Given the description of an element on the screen output the (x, y) to click on. 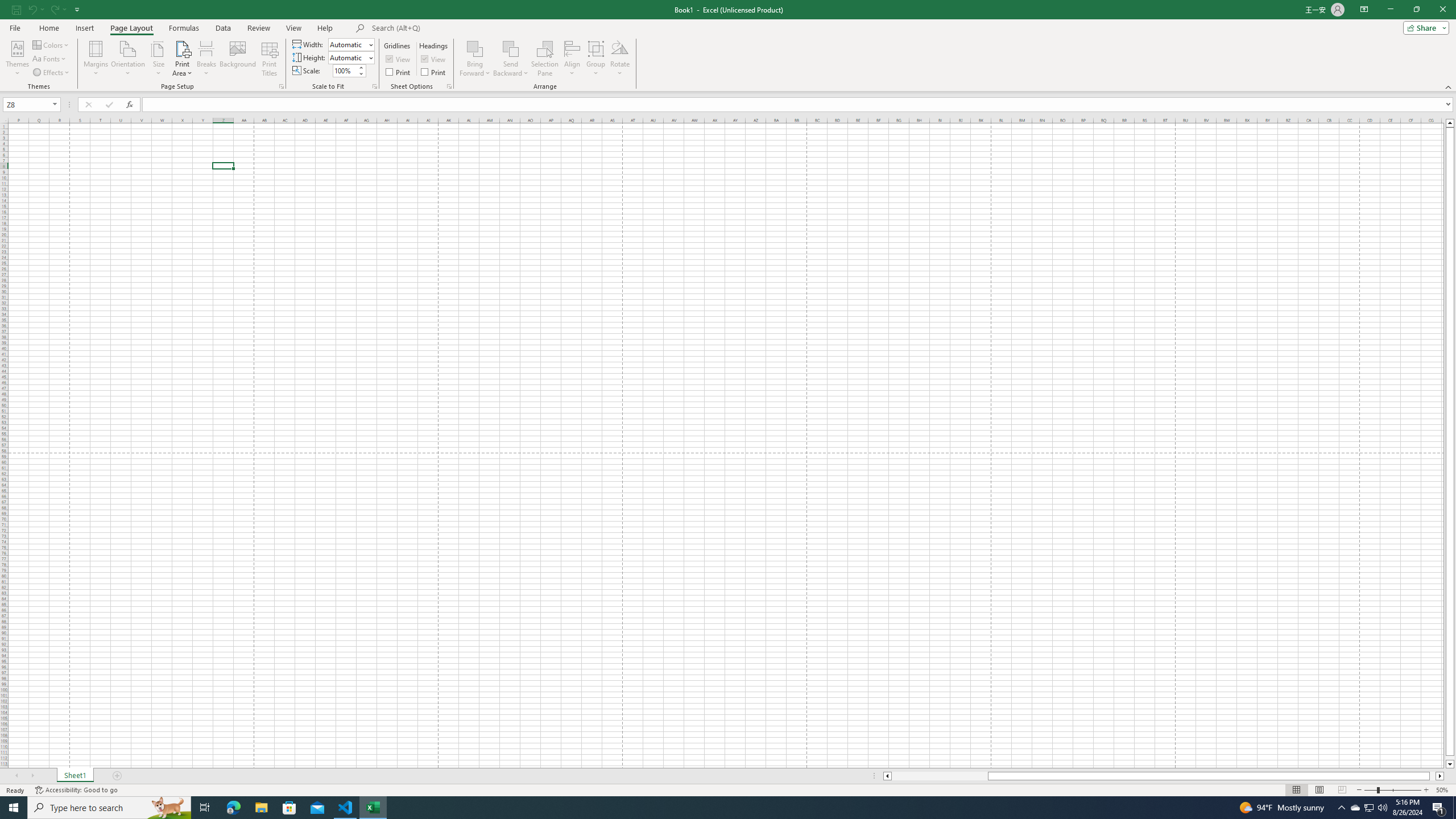
Column right (1440, 775)
Print (434, 71)
Bring Forward (475, 48)
Class: MsoCommandBar (728, 45)
Background... (237, 58)
Accessibility Checker Accessibility: Good to go (76, 790)
Fonts (49, 58)
Formulas (184, 28)
Align (571, 58)
Formula Bar (798, 104)
Minimize (1390, 9)
